Given the description of an element on the screen output the (x, y) to click on. 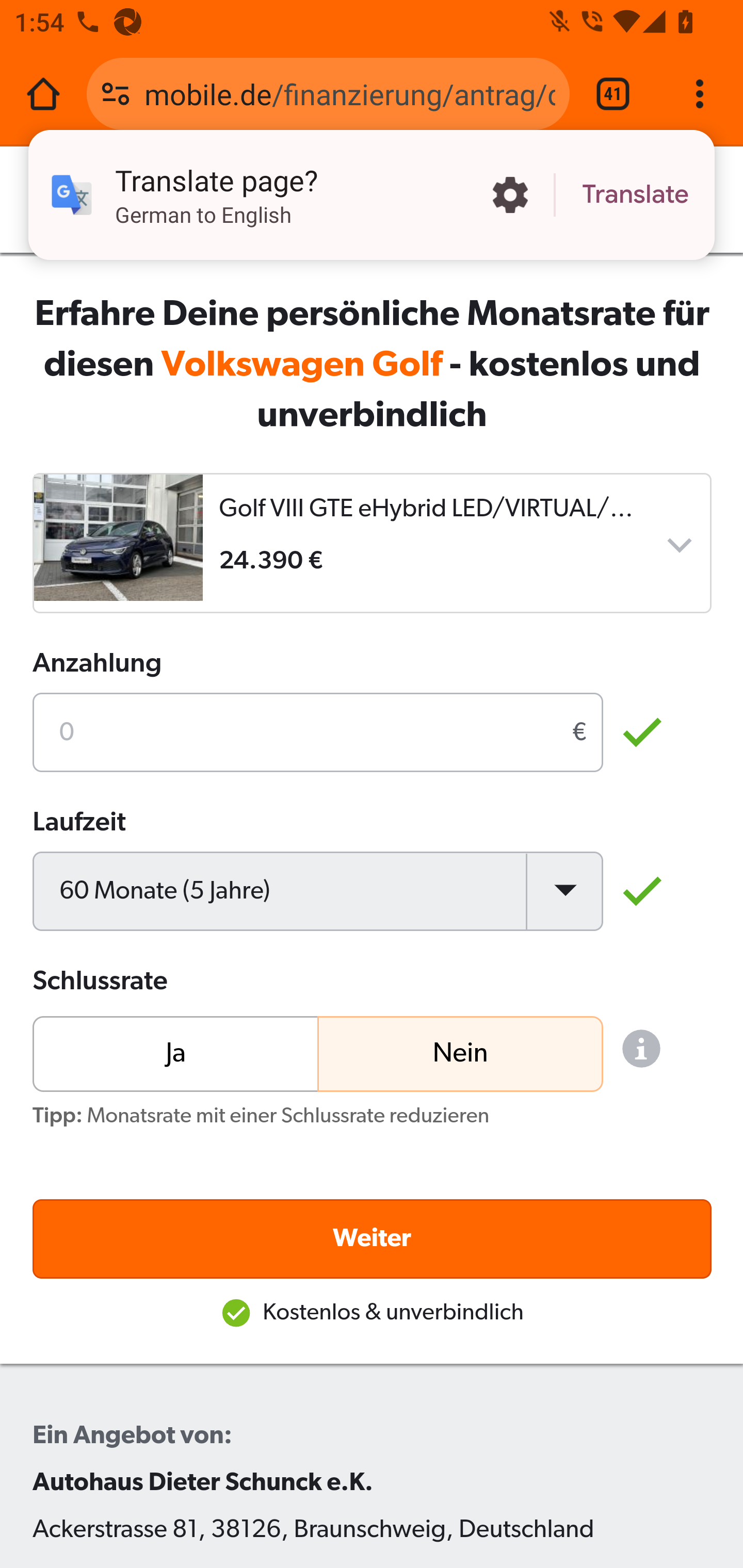
Open the home page (43, 93)
Connection is secure (115, 93)
Switch or close tabs (612, 93)
Customize and control Google Chrome (699, 93)
Translate (634, 195)
More options in the Translate page? (509, 195)
60 Monate (5 Jahre) (317, 890)
Ja (175, 1052)
Nein (459, 1052)
Weiter (372, 1238)
